Given the description of an element on the screen output the (x, y) to click on. 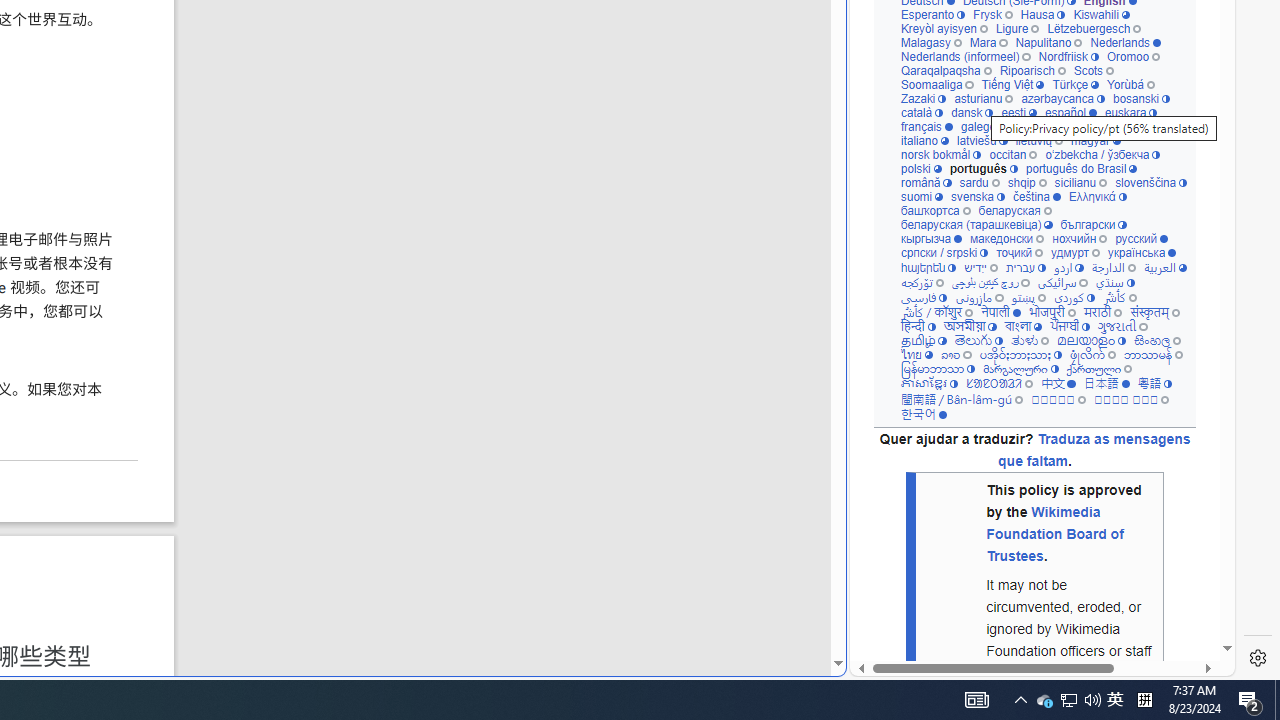
Nederlands (informeel) (964, 56)
Mara (988, 42)
